Given the description of an element on the screen output the (x, y) to click on. 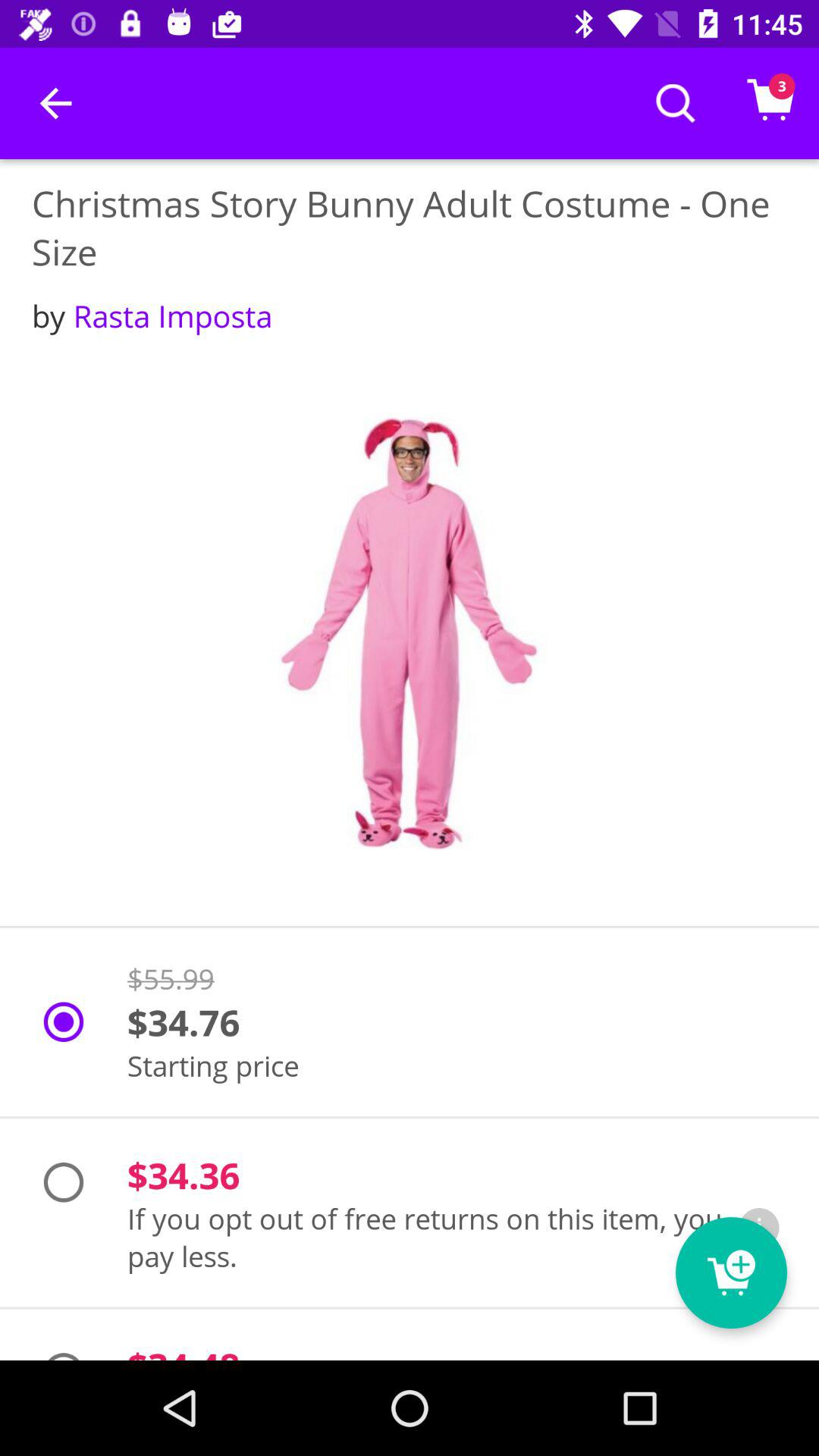
display picture (409, 633)
